Given the description of an element on the screen output the (x, y) to click on. 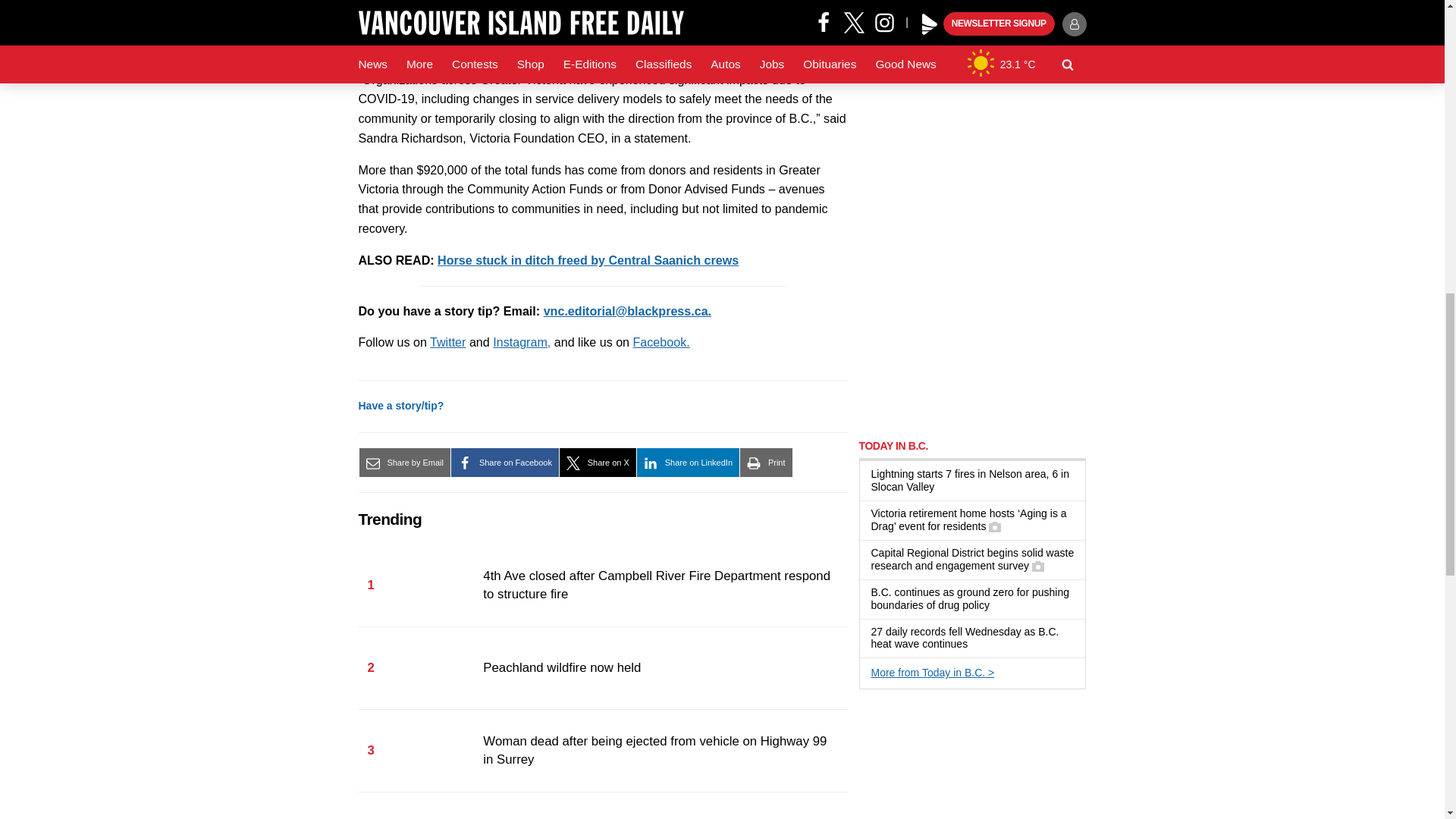
Has a gallery (1037, 566)
3rd party ad content (972, 124)
Has a gallery (994, 526)
